Given the description of an element on the screen output the (x, y) to click on. 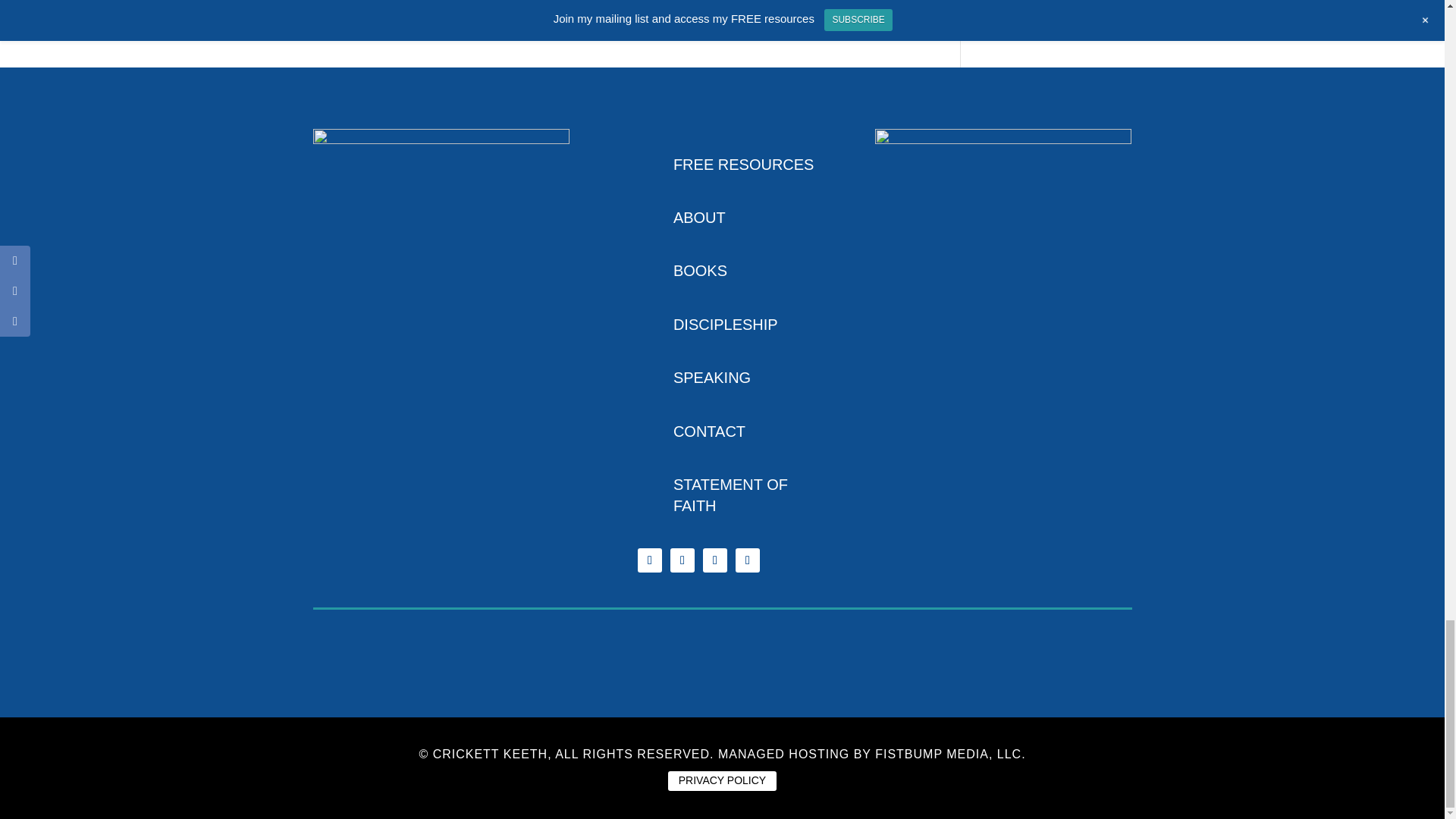
BOOKS (699, 270)
DISCIPLESHIP (724, 324)
Follow on LinkedIn (747, 559)
Follow on Instagram (681, 559)
Follow on Youtube (714, 559)
FREE RESOURCES (742, 164)
Follow on Facebook (649, 559)
ABOUT (698, 217)
SPEAKING (711, 377)
